Given the description of an element on the screen output the (x, y) to click on. 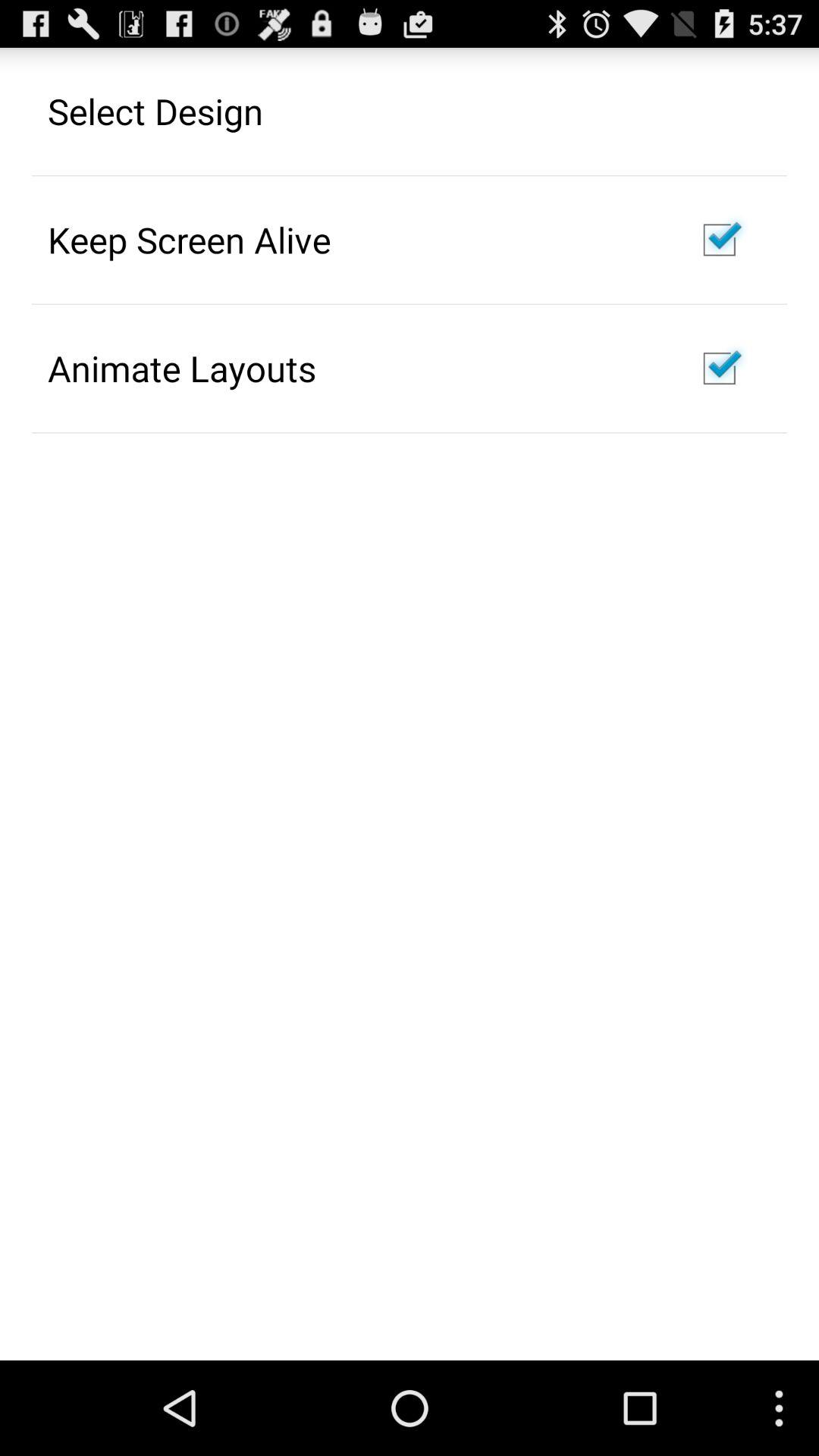
turn off the keep screen alive item (189, 239)
